Given the description of an element on the screen output the (x, y) to click on. 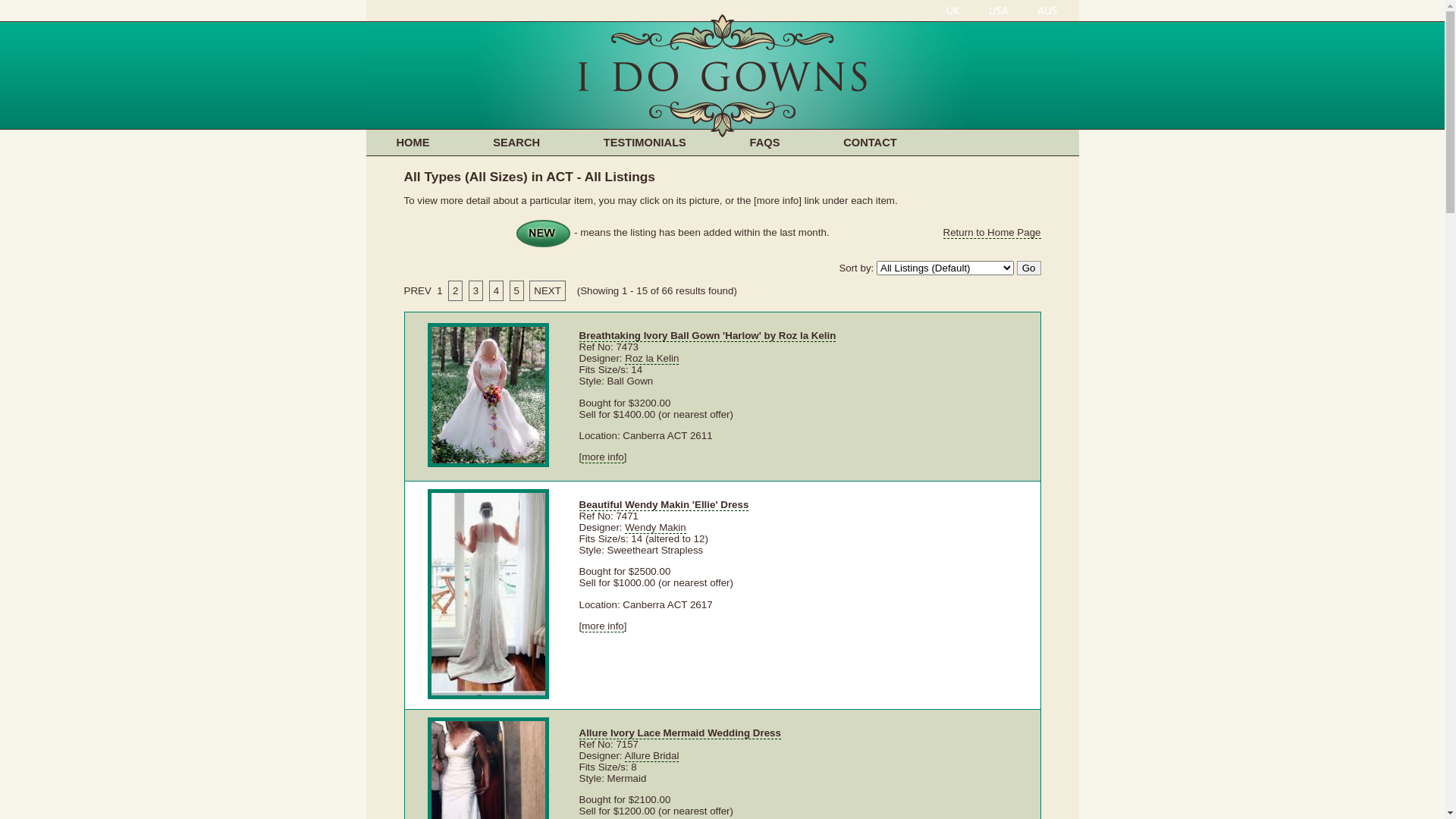
CONTACT Element type: text (870, 142)
FAQS Element type: text (764, 142)
more info Element type: text (602, 457)
more info Element type: text (602, 626)
Allure Bridal Element type: text (651, 755)
3 Element type: text (475, 290)
2 Element type: text (455, 290)
Roz la Kelin Element type: text (651, 358)
Breathtaking Ivory Ball Gown 'Harlow' by Roz la Kelin Element type: text (707, 335)
4 Element type: text (496, 290)
5 Element type: text (516, 290)
NEXT Element type: text (547, 290)
Wendy Makin Element type: text (655, 527)
TESTIMONIALS Element type: text (644, 142)
Go Element type: text (1028, 267)
Beautiful Wendy Makin 'Ellie' Dress Element type: text (664, 504)
SEARCH Element type: text (515, 142)
Allure Ivory Lace Mermaid Wedding Dress Element type: text (680, 733)
Return to Home Page Element type: text (992, 232)
HOME Element type: text (412, 142)
